Given the description of an element on the screen output the (x, y) to click on. 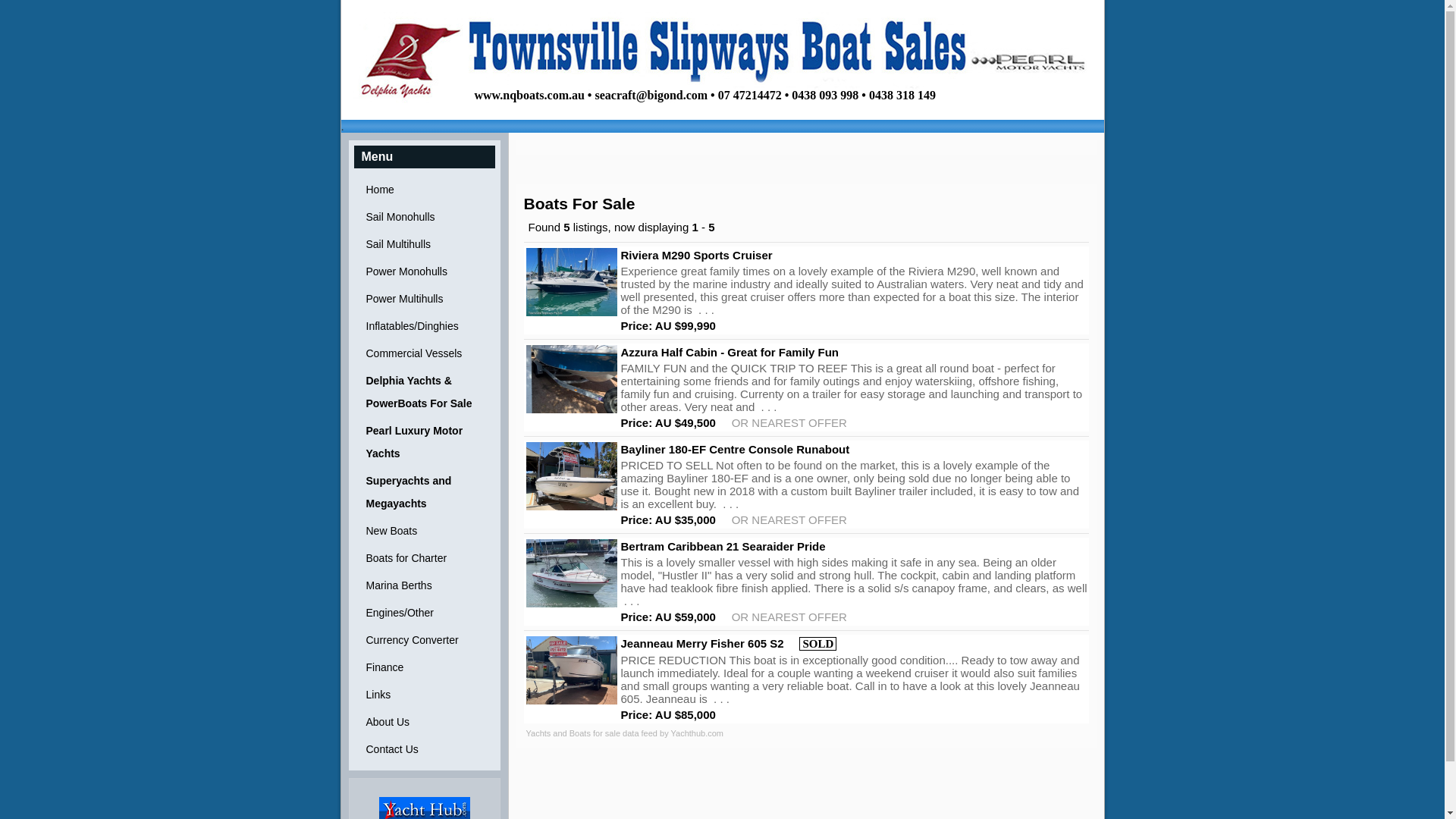
Power Multihulls Element type: text (424, 298)
Superyachts and Megayachts Element type: text (424, 491)
New Boats Element type: text (424, 530)
Engines/Other Element type: text (424, 612)
About Us Element type: text (424, 721)
Home Element type: text (424, 189)
Links Element type: text (424, 694)
Sail Multihulls Element type: text (424, 244)
Pearl Luxury Motor Yachts Element type: text (424, 441)
Delphia Yachts & PowerBoats For Sale Element type: text (424, 391)
Contact Us Element type: text (424, 749)
Sail Monohulls Element type: text (424, 216)
Inflatables/Dinghies Element type: text (424, 325)
Commercial Vessels Element type: text (424, 353)
Finance Element type: text (424, 667)
Power Monohulls Element type: text (424, 271)
Currency Converter Element type: text (424, 639)
Boats for Charter Element type: text (424, 558)
Yachts and Boats for sale data feed by Yachthub.com Element type: text (625, 732)
Marina Berths Element type: text (424, 585)
